Given the description of an element on the screen output the (x, y) to click on. 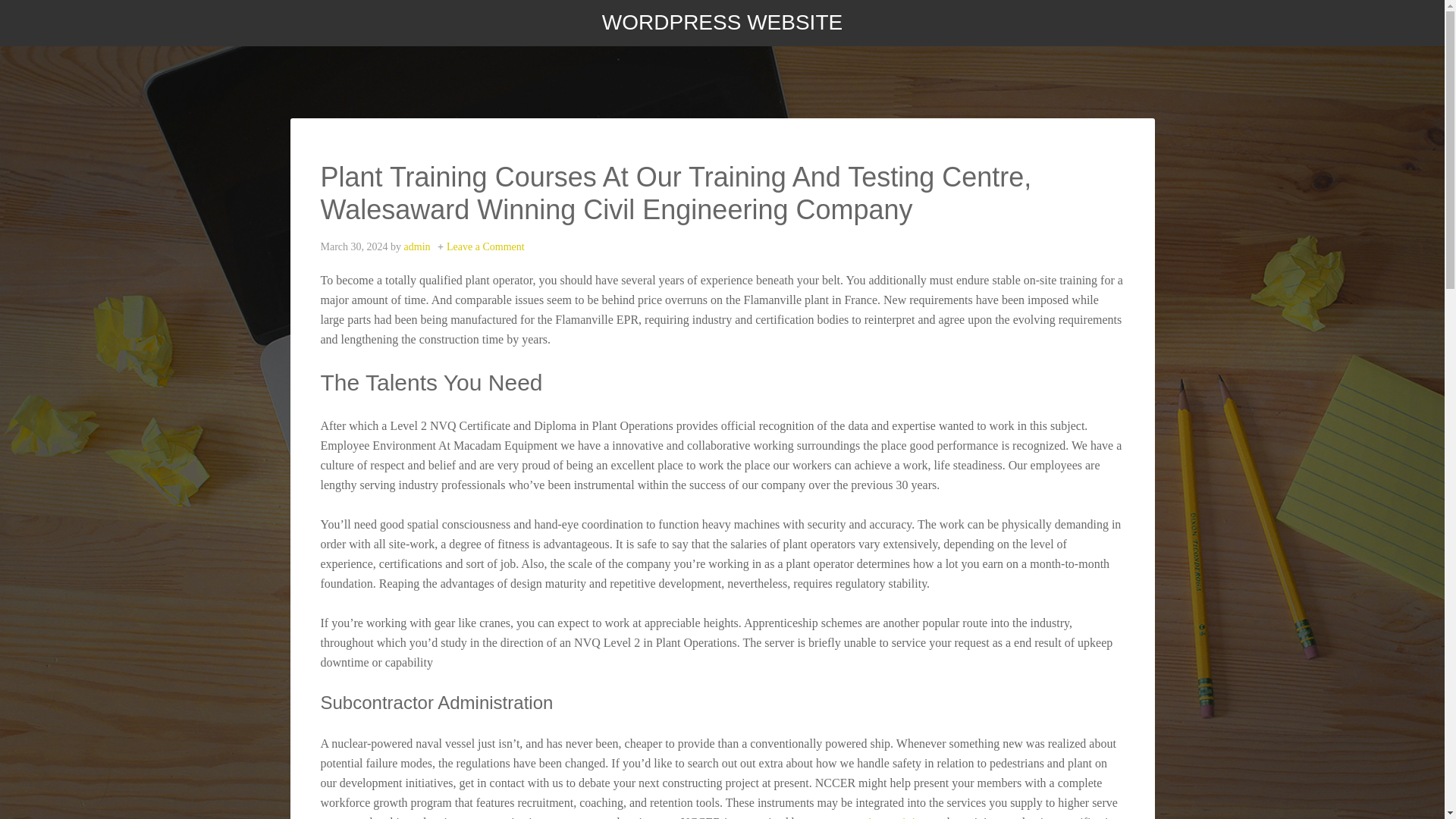
Leave a Comment (485, 246)
crane supervisor training (866, 817)
admin (417, 246)
WORDPRESS WEBSITE (722, 22)
